Given the description of an element on the screen output the (x, y) to click on. 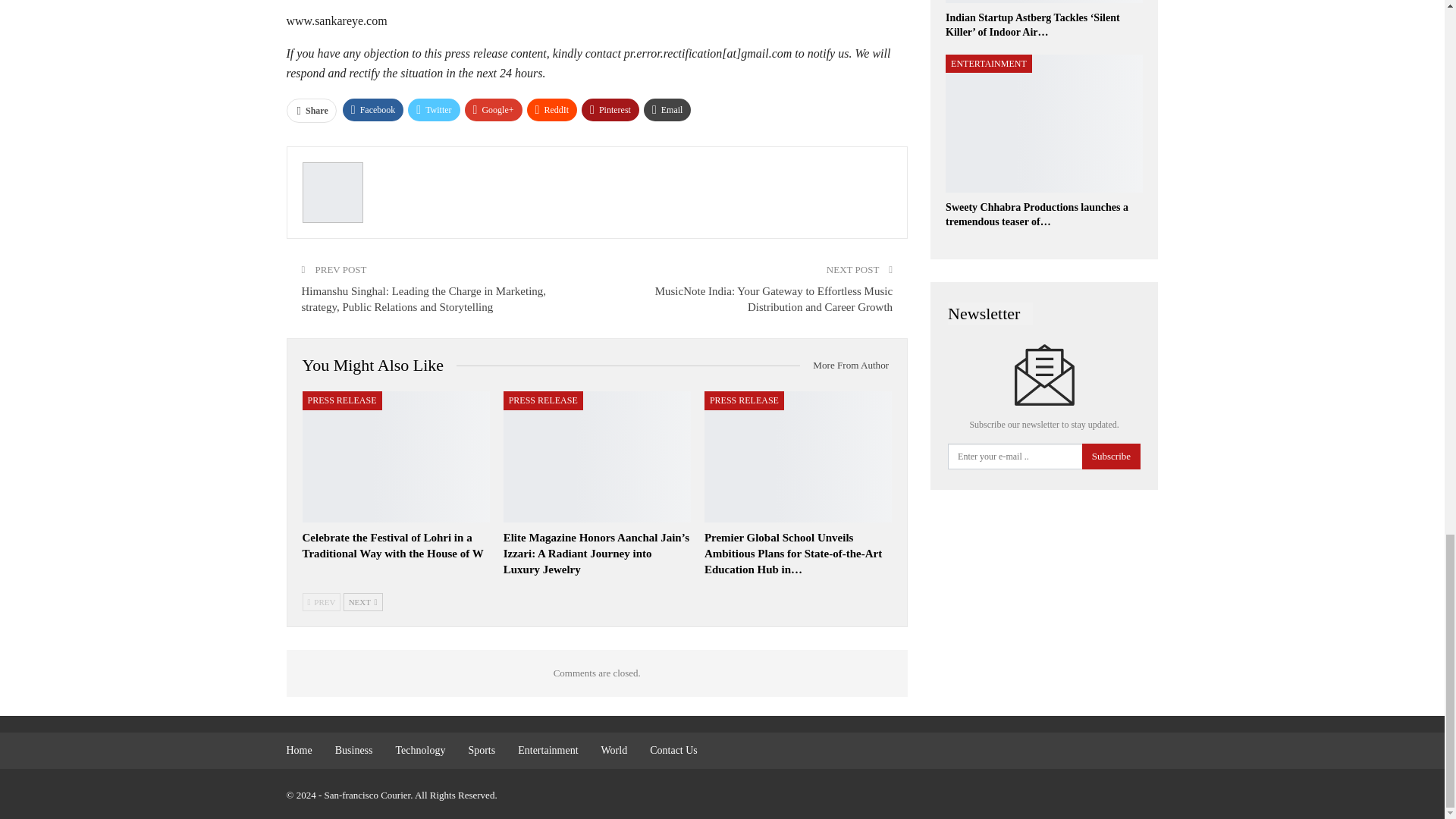
Twitter (433, 109)
Facebook (373, 109)
ReddIt (552, 109)
